Given the description of an element on the screen output the (x, y) to click on. 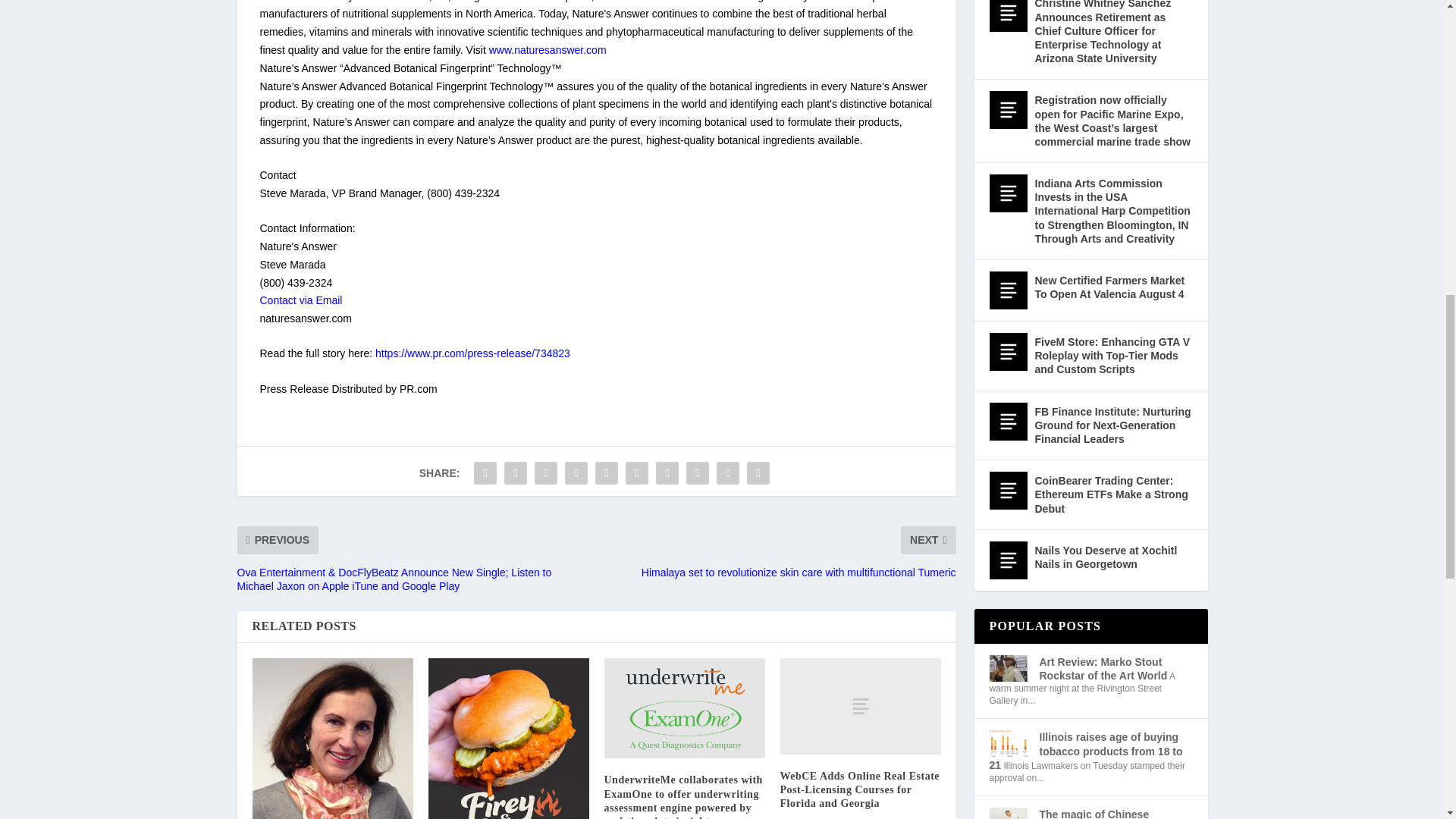
www.naturesanswer.com (548, 50)
Contact via Email (300, 300)
Anne Melissa Dowling Accepts Advisory Role with Carpe Data (331, 738)
